Given the description of an element on the screen output the (x, y) to click on. 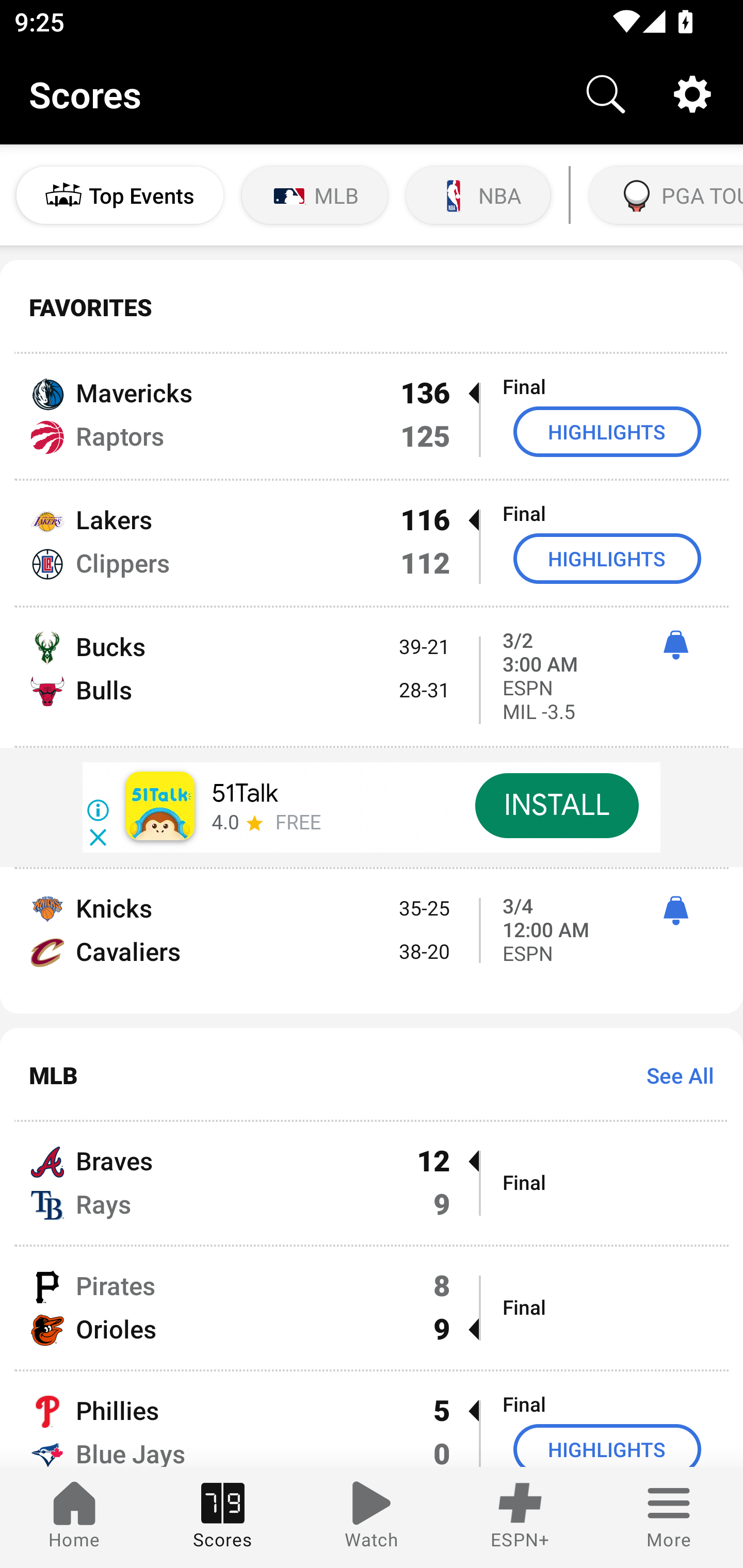
Search (605, 93)
Settings (692, 93)
 Top Events (119, 194)
MLB (314, 194)
NBA (477, 194)
PGA TOUR (664, 194)
FAVORITES (371, 307)
Mavericks 136  Final Raptors 125 HIGHLIGHTS (371, 416)
HIGHLIGHTS (607, 431)
Lakers 116  Final Clippers 112 HIGHLIGHTS (371, 543)
HIGHLIGHTS (607, 558)
ì (675, 644)
INSTALL (556, 805)
51Talk (244, 793)
Knicks 35-25 Cavaliers 38-20 3/4 12:00 AM ì ESPN (371, 940)
ì (675, 910)
MLB See All (371, 1074)
See All (673, 1074)
Braves 12  Rays 9 Final (371, 1182)
Pirates 8 Orioles 9  Final (371, 1307)
Phillies 5  Final Blue Jays 0 HIGHLIGHTS (371, 1419)
HIGHLIGHTS (607, 1445)
Home (74, 1517)
Watch (371, 1517)
ESPN+ (519, 1517)
More (668, 1517)
